Given the description of an element on the screen output the (x, y) to click on. 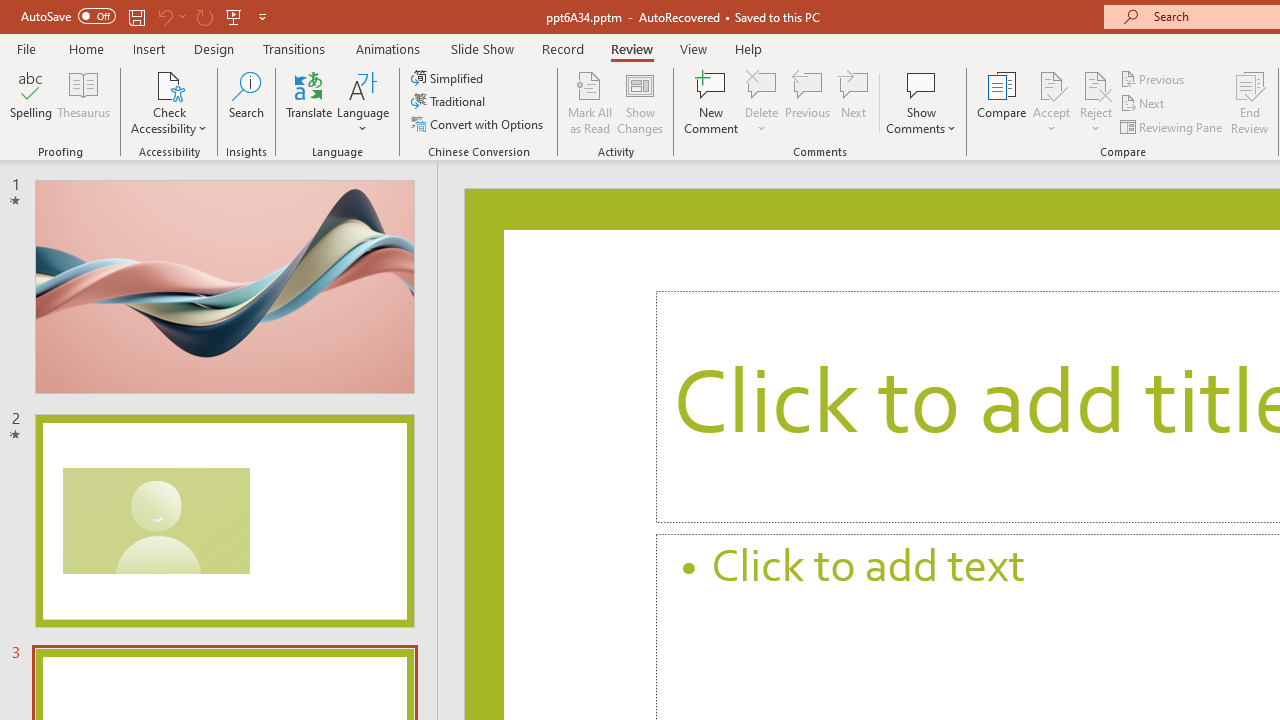
Show Changes (639, 102)
Show Comments (921, 84)
Mark All as Read (589, 102)
Thesaurus... (83, 102)
End Review (1249, 102)
Traditional (449, 101)
New Comment (711, 102)
Language (363, 102)
